Given the description of an element on the screen output the (x, y) to click on. 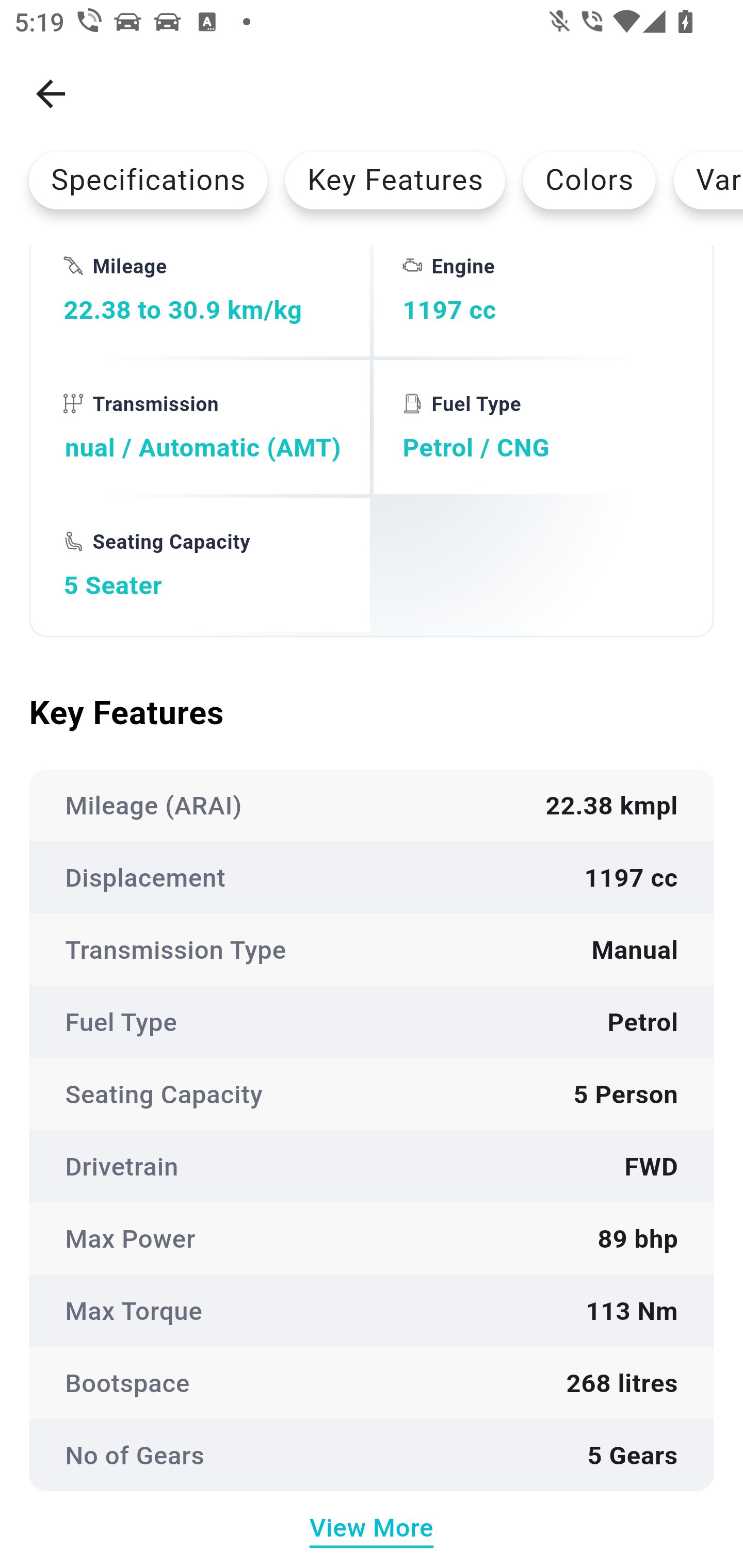
Back (50, 93)
Specifications (147, 180)
Key Features (395, 180)
Colors (589, 180)
Mileage 22.38 to 30.9 km/kg (202, 300)
Engine 1197 cc (540, 300)
Transmission Manual / Automatic (AMT) (202, 426)
Fuel Type Petrol / CNG (540, 426)
Seating Capacity 5 Seater (202, 564)
